Given the description of an element on the screen output the (x, y) to click on. 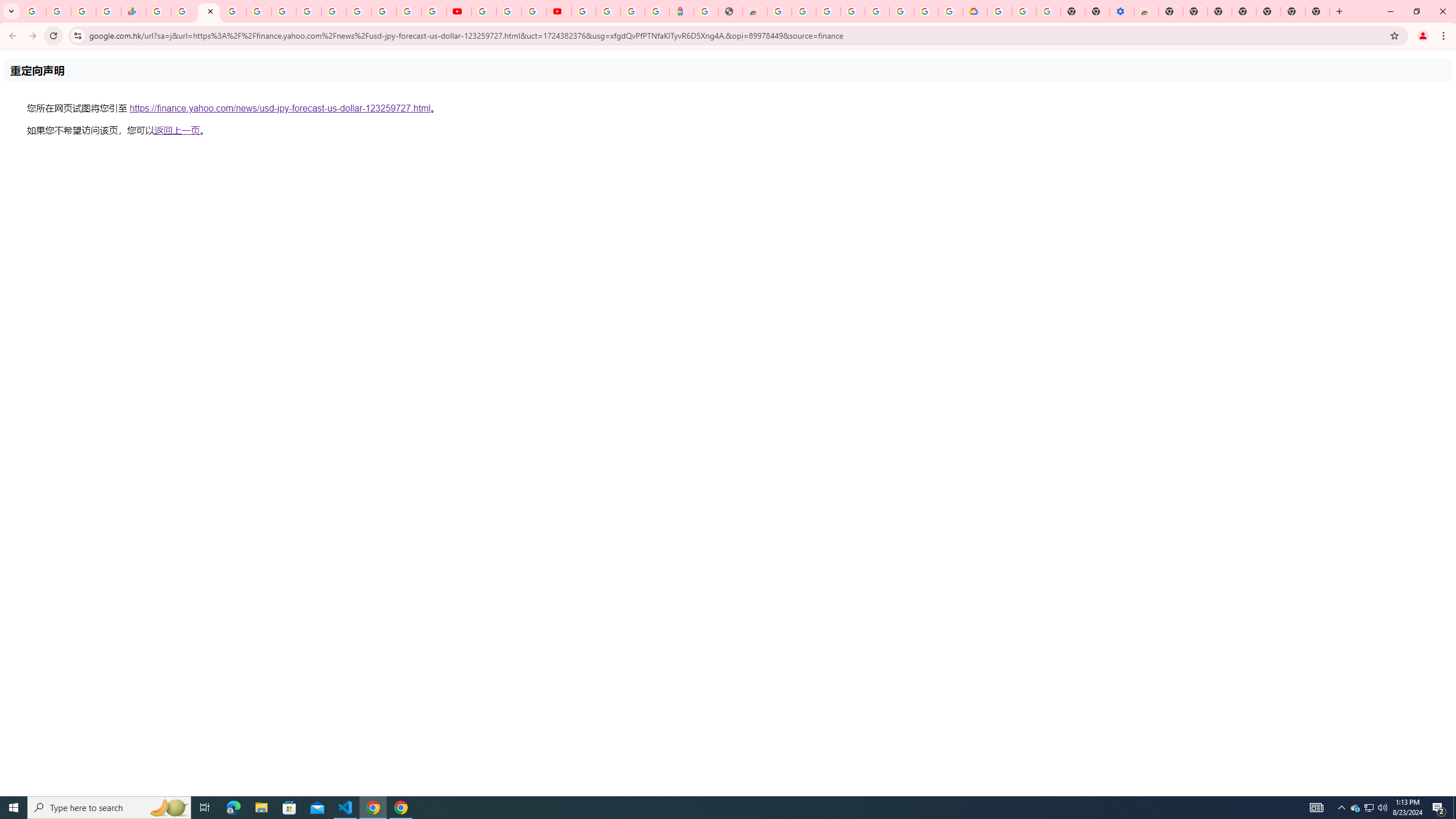
Create your Google Account (925, 11)
YouTube (332, 11)
Privacy Checkup (433, 11)
Ad Settings (827, 11)
Google Account Help (876, 11)
Sign in - Google Accounts (852, 11)
